Given the description of an element on the screen output the (x, y) to click on. 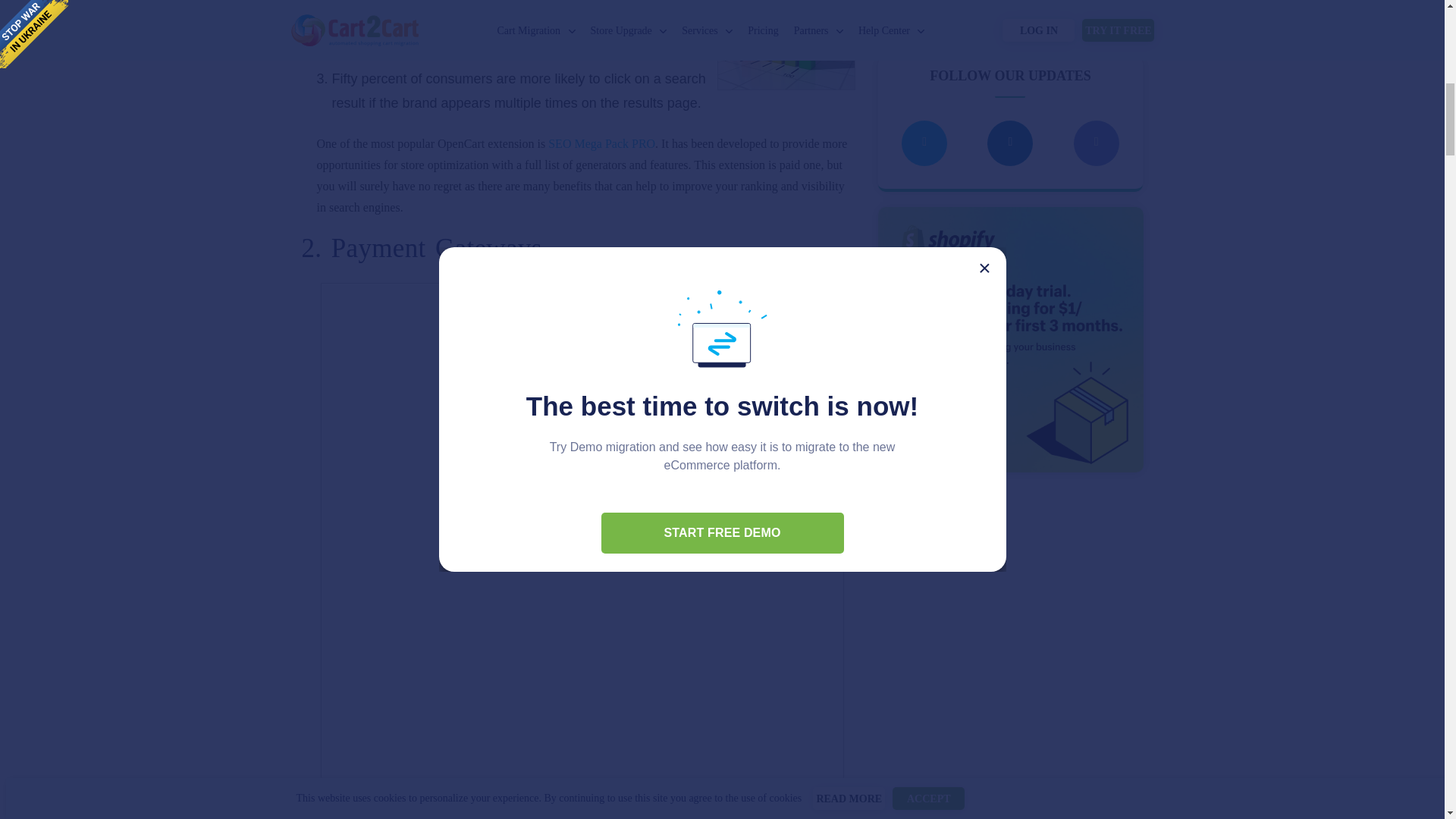
SEO (786, 45)
